Given the description of an element on the screen output the (x, y) to click on. 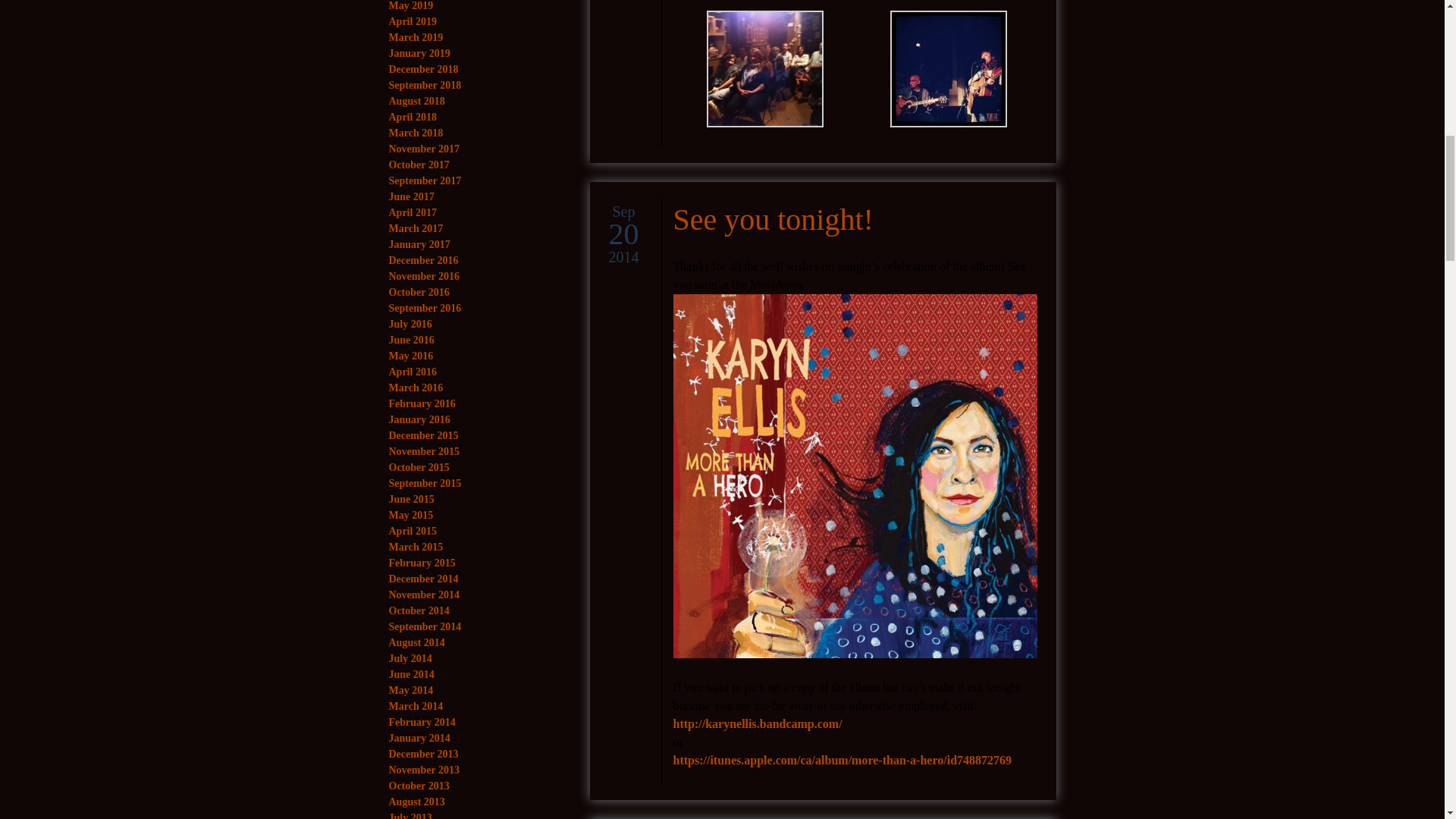
May 2019 (410, 5)
April 2019 (411, 21)
September 2018 (424, 84)
March 2019 (415, 37)
December 2018 (423, 69)
August 2018 (416, 101)
January 2019 (418, 52)
